Given the description of an element on the screen output the (x, y) to click on. 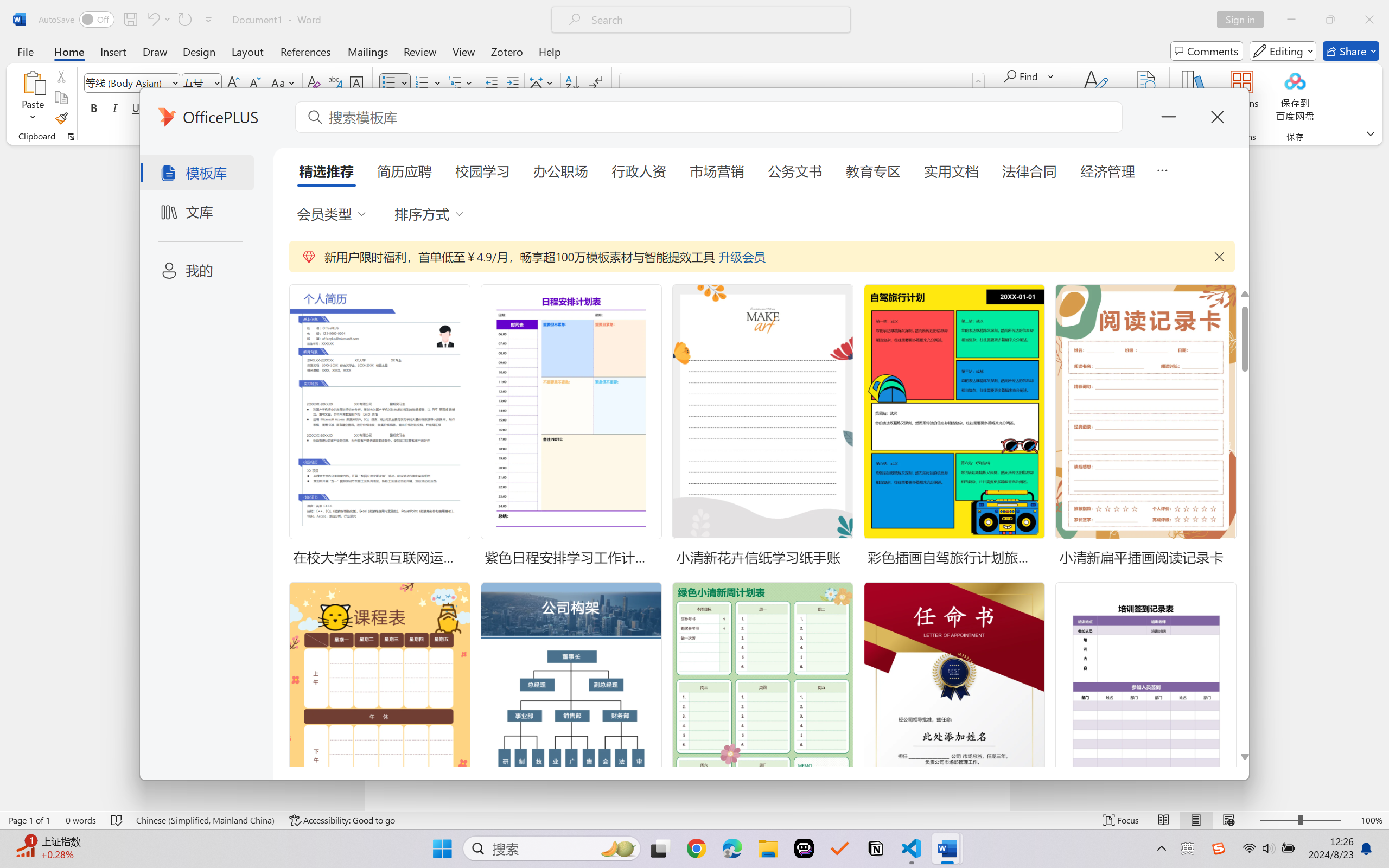
Sign in (1244, 19)
